Given the description of an element on the screen output the (x, y) to click on. 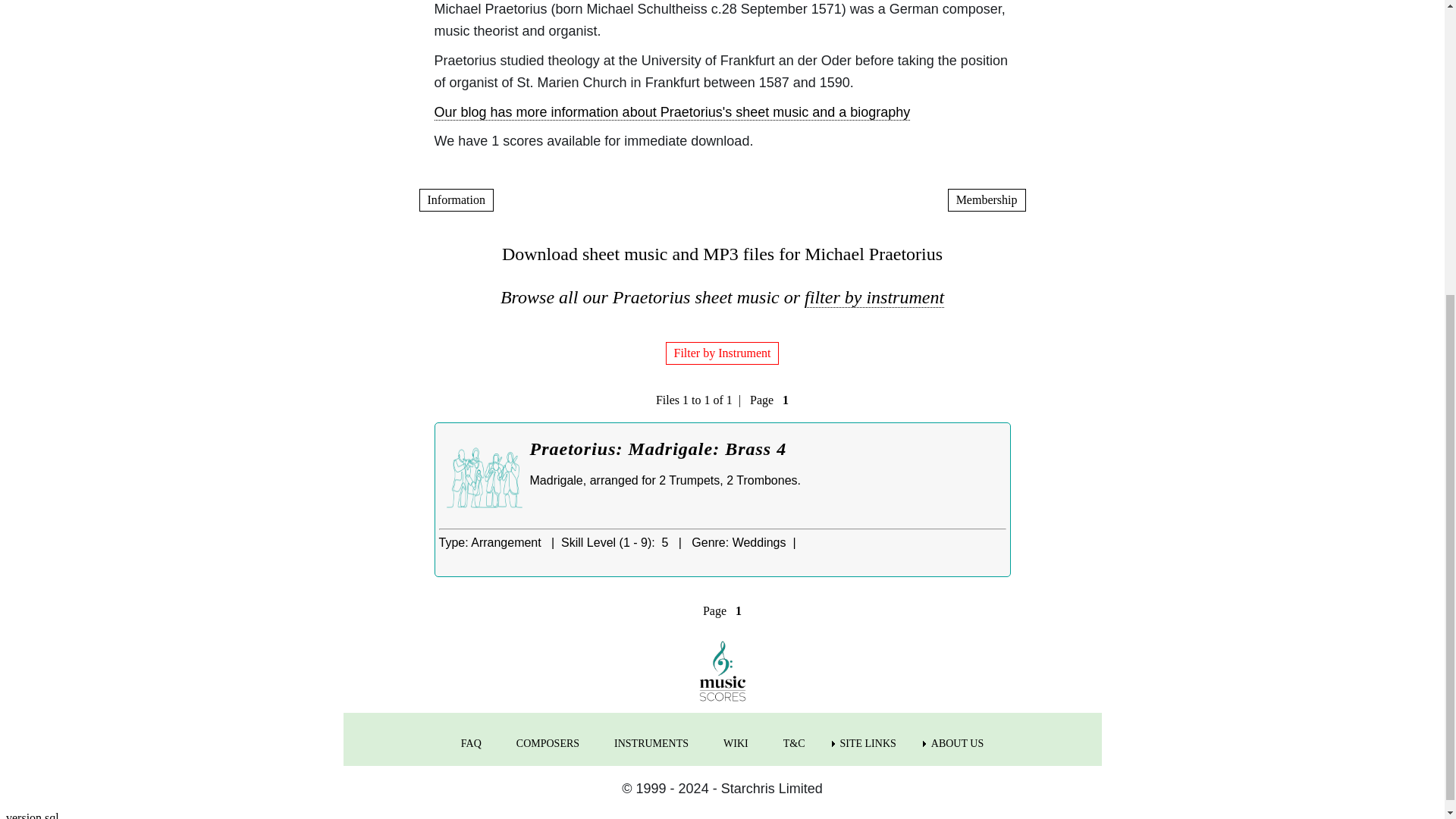
FAQ (470, 743)
COMPOSERS (547, 743)
Praetorius brief biography (671, 112)
WIKI (734, 743)
Home Page (722, 671)
Membership (986, 200)
Filter by Instrument (721, 353)
Praetorius: Madrigale: Brass 4 (657, 448)
Information (456, 200)
INSTRUMENTS (650, 743)
filter by instrument (874, 297)
SITE LINKS (868, 743)
ABOUT US (956, 743)
